Given the description of an element on the screen output the (x, y) to click on. 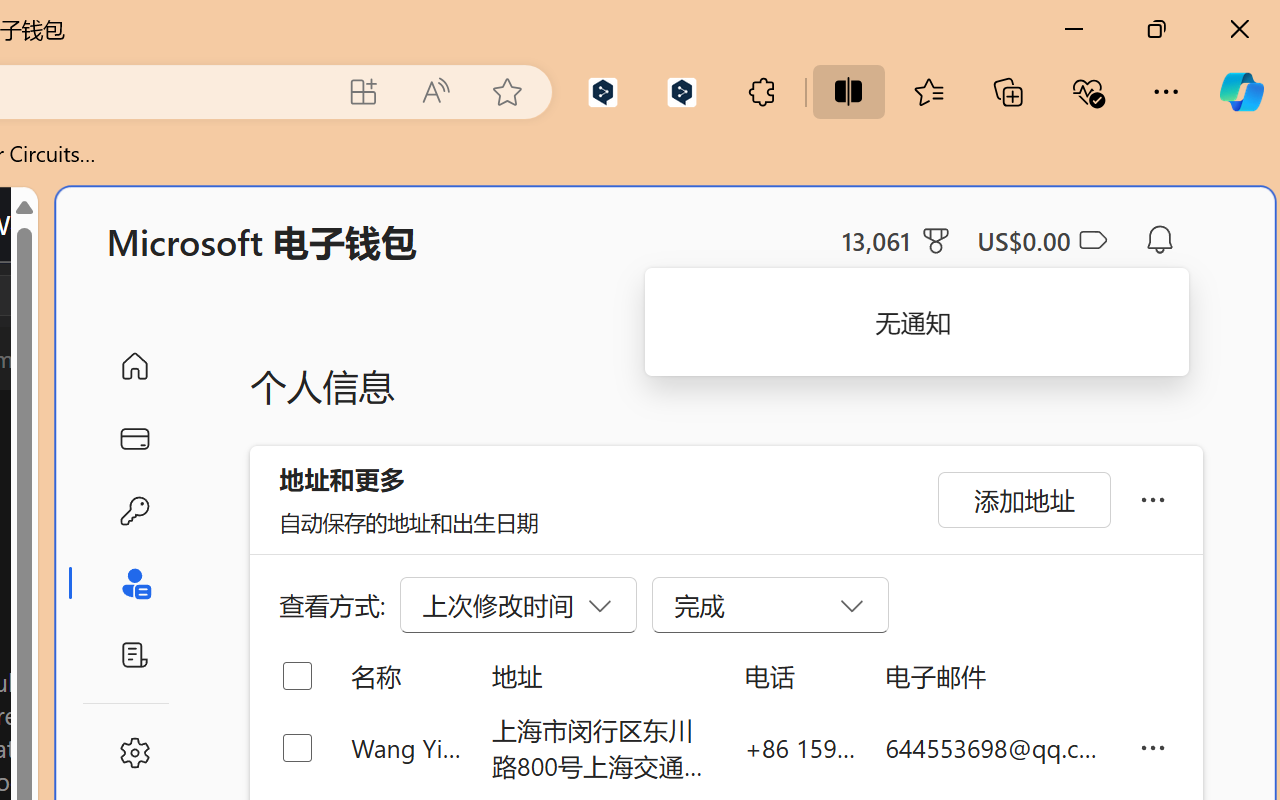
Class: actions-container (94, 295)
